Given the description of an element on the screen output the (x, y) to click on. 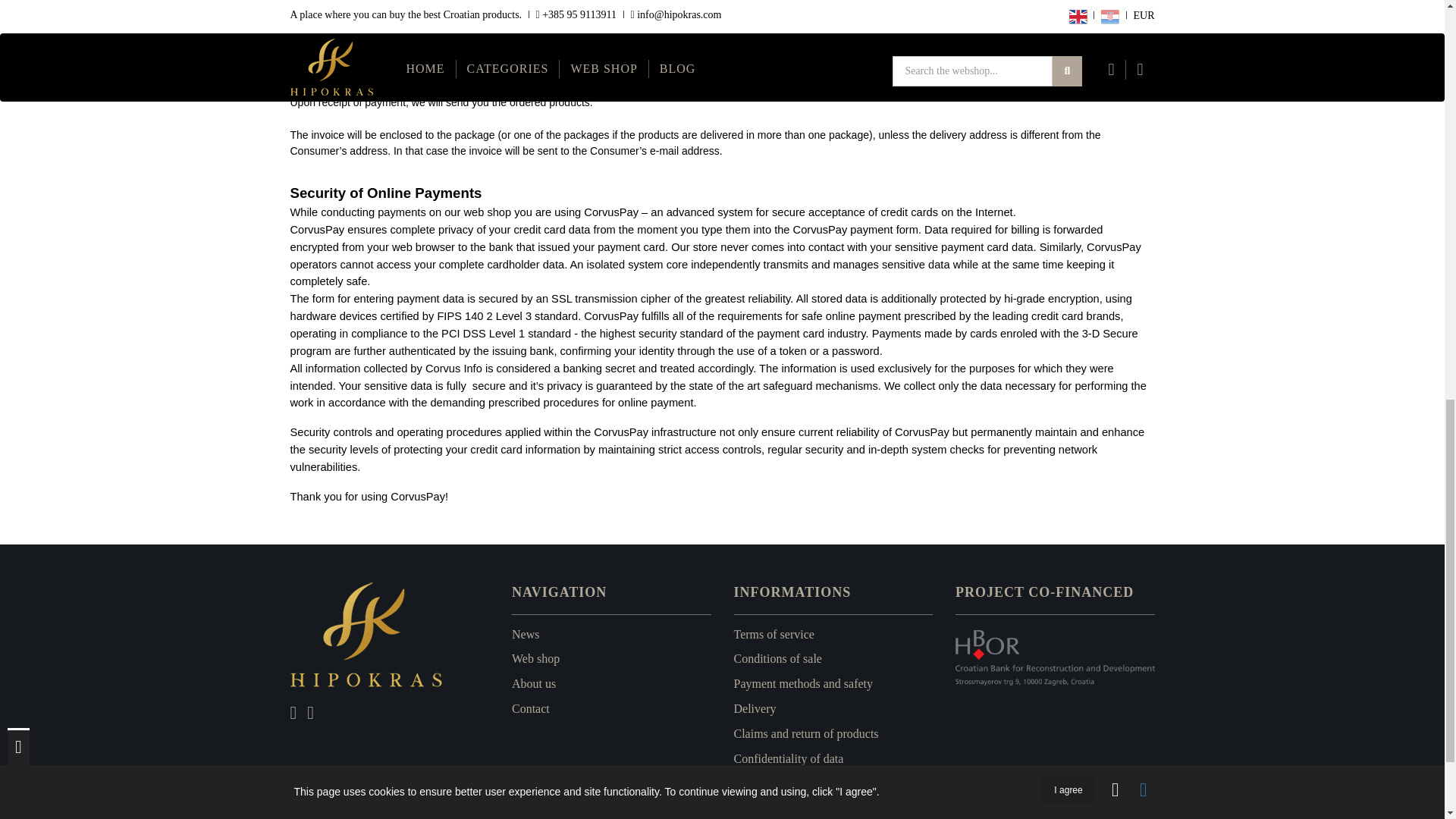
News (525, 634)
Web shop (535, 658)
Contact (531, 707)
Terms of service (773, 634)
About us (534, 683)
